Given the description of an element on the screen output the (x, y) to click on. 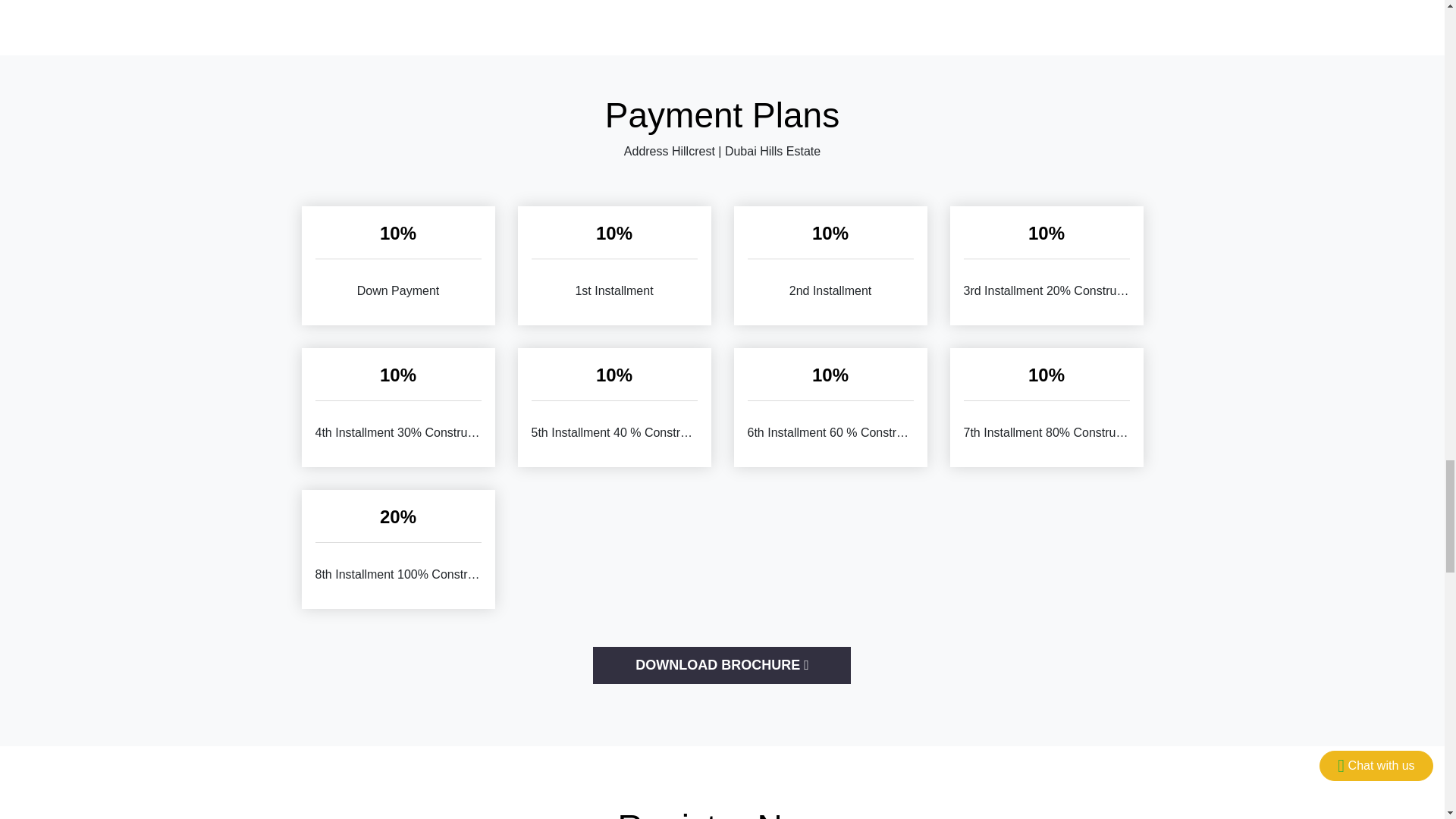
DOWNLOAD BROCHURE (721, 665)
